Given the description of an element on the screen output the (x, y) to click on. 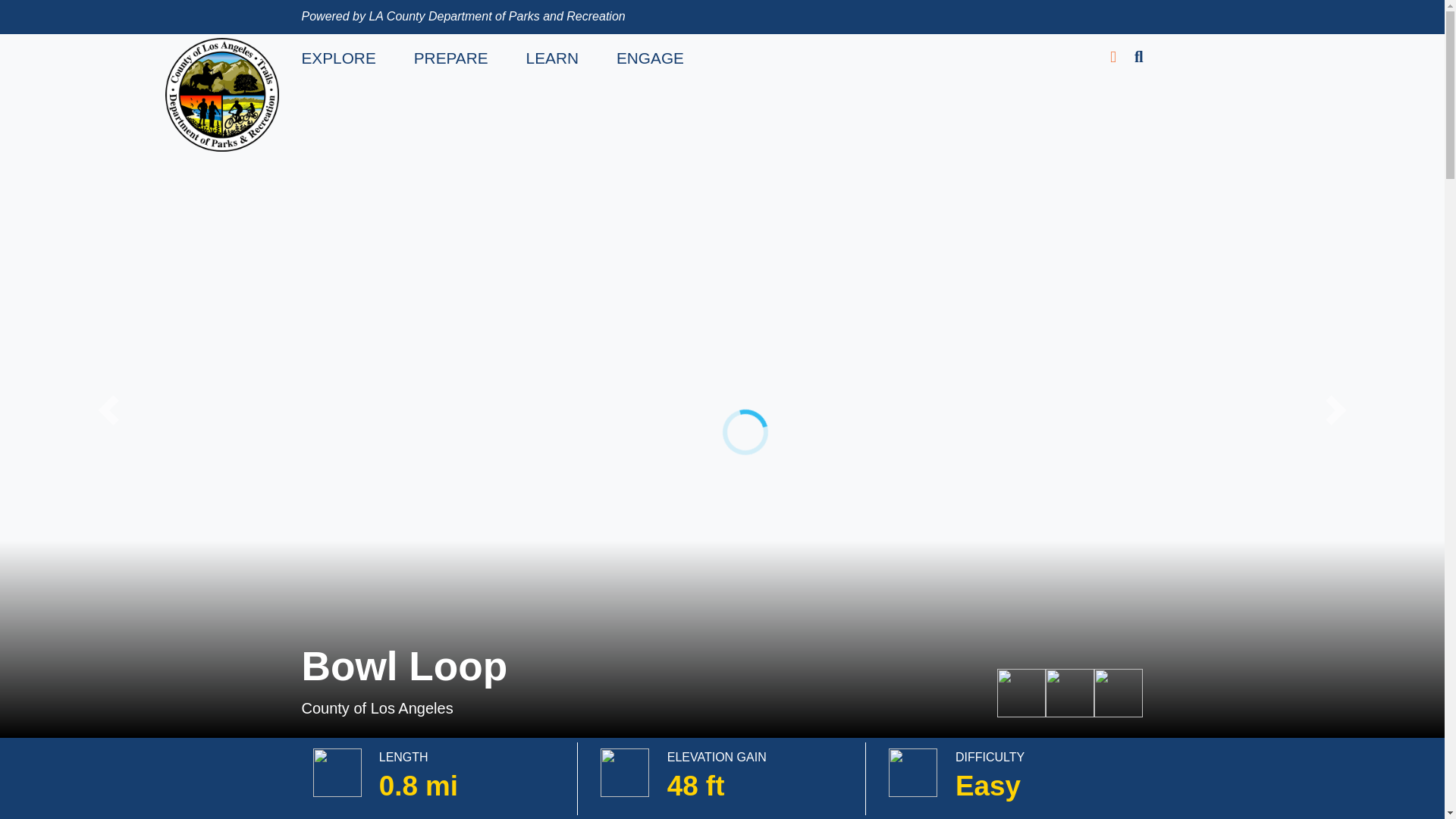
LEARN (551, 58)
EXPLORE (338, 58)
ENGAGE (649, 58)
Powered by LA County Department of Parks and Recreation (463, 15)
PREPARE (450, 58)
